Given the description of an element on the screen output the (x, y) to click on. 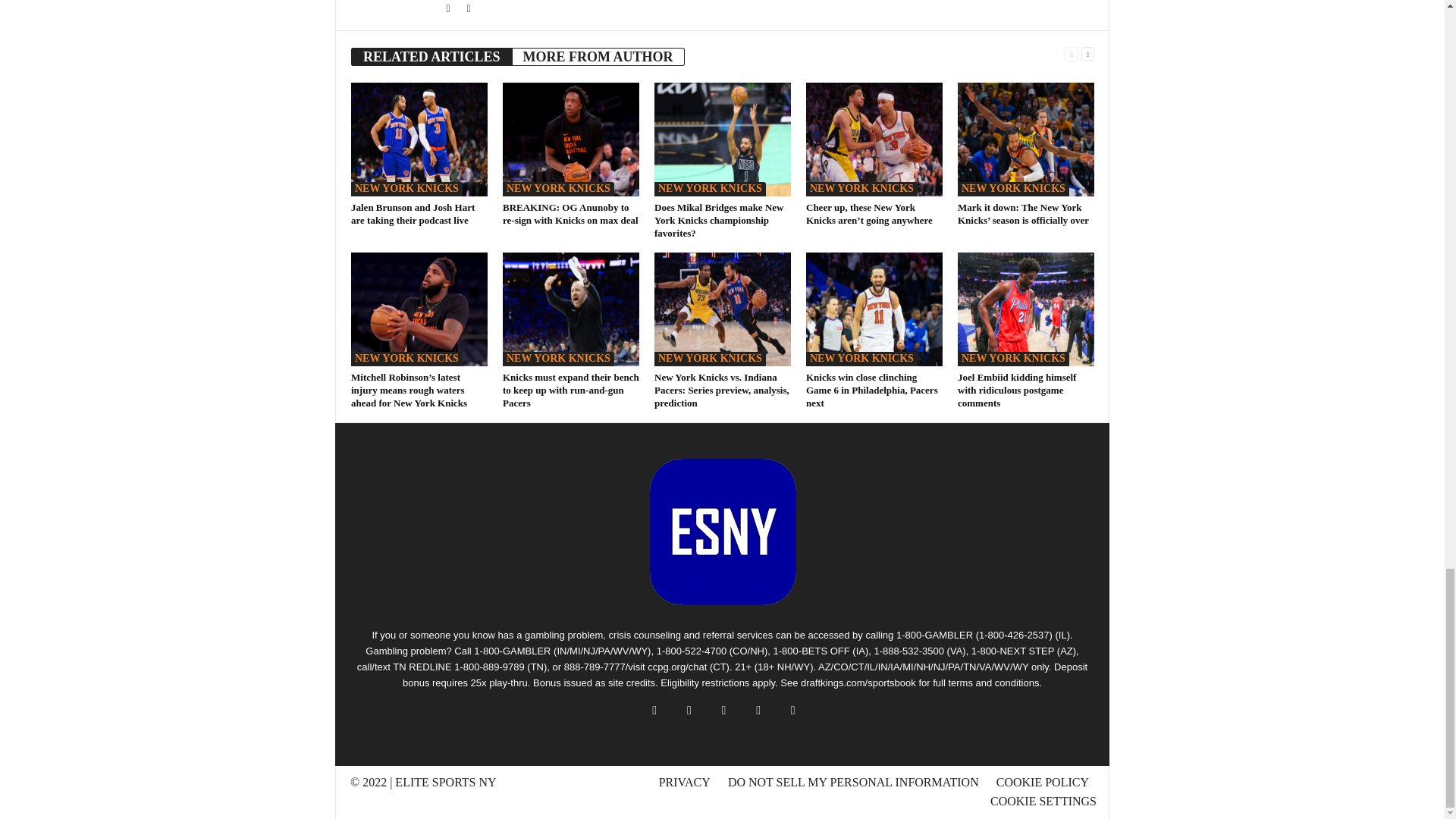
BREAKING: OG Anunoby to re-sign with Knicks on max deal (570, 139)
Jalen Brunson and Josh Hart are taking their podcast live (418, 139)
Linkedin (468, 9)
Twitter (449, 9)
Jalen Brunson and Josh Hart are taking their podcast live (412, 213)
